Given the description of an element on the screen output the (x, y) to click on. 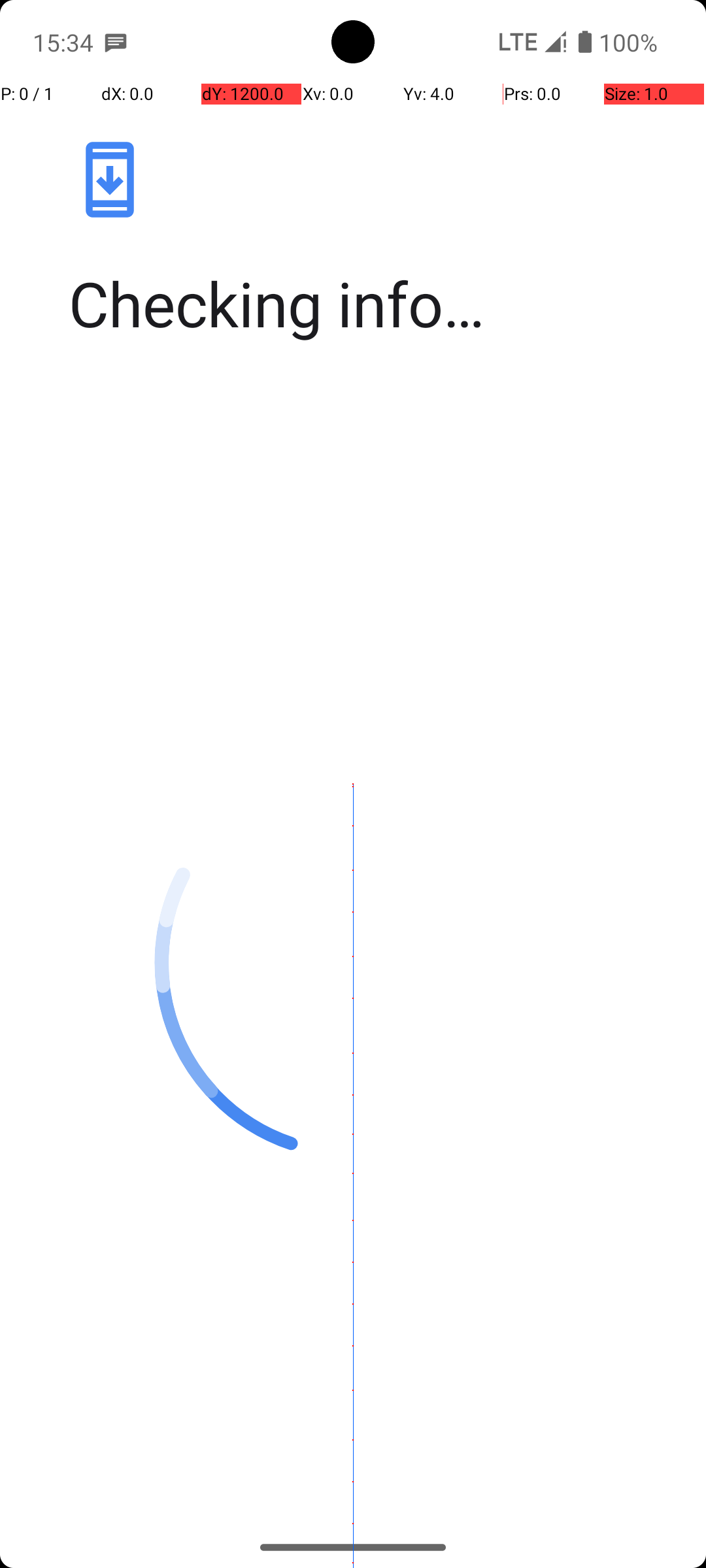
Checking info… Element type: android.widget.TextView (366, 302)
